Given the description of an element on the screen output the (x, y) to click on. 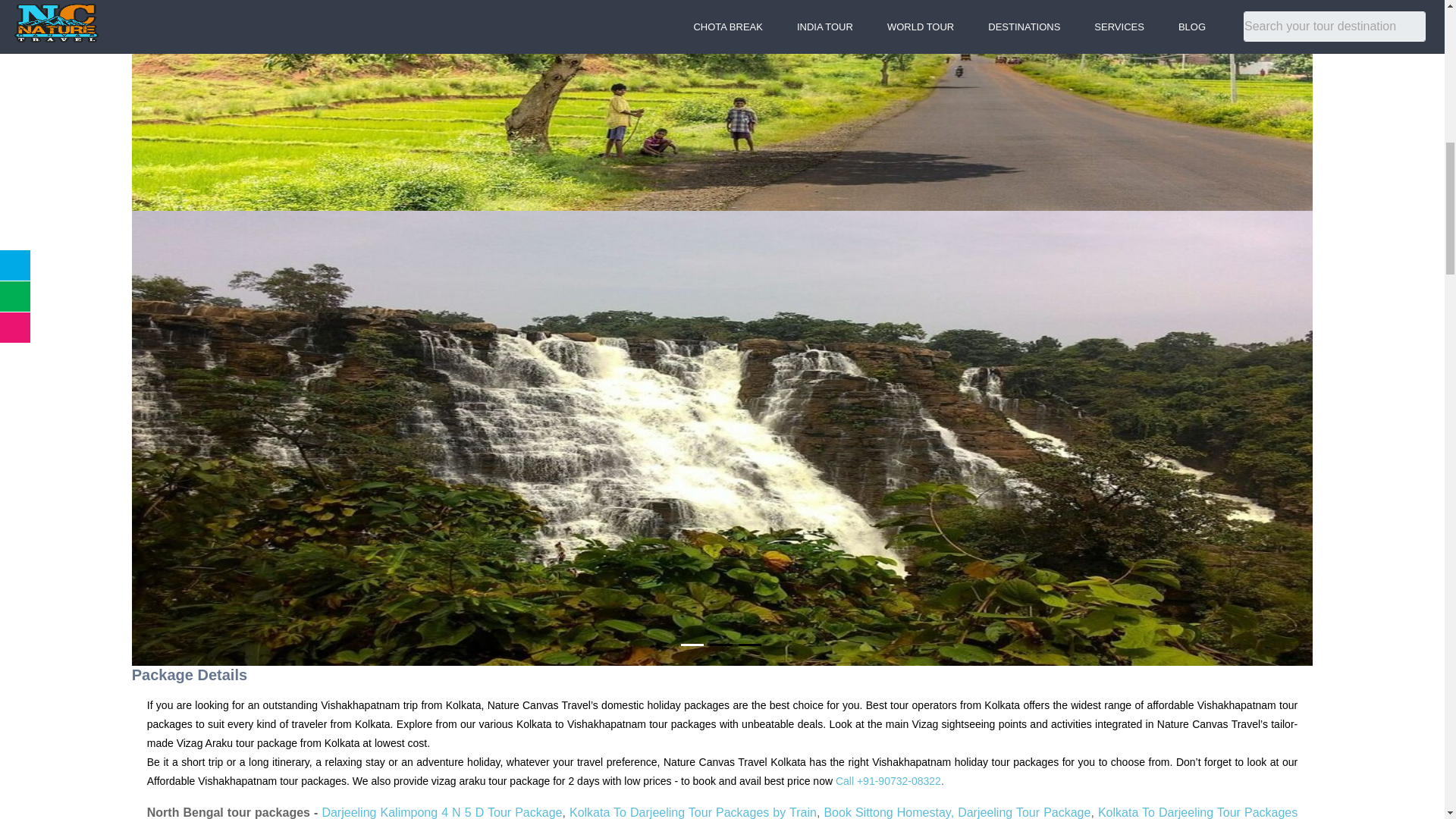
Book Sittong Homestay, Darjeeling Tour Package (957, 812)
Darjeeling Kalimpong 4 N 5 D Tour Package (441, 812)
Kolkata To Darjeeling Tour Packages by Train (722, 812)
Kolkata To Darjeeling Tour Packages by Train (692, 812)
